Given the description of an element on the screen output the (x, y) to click on. 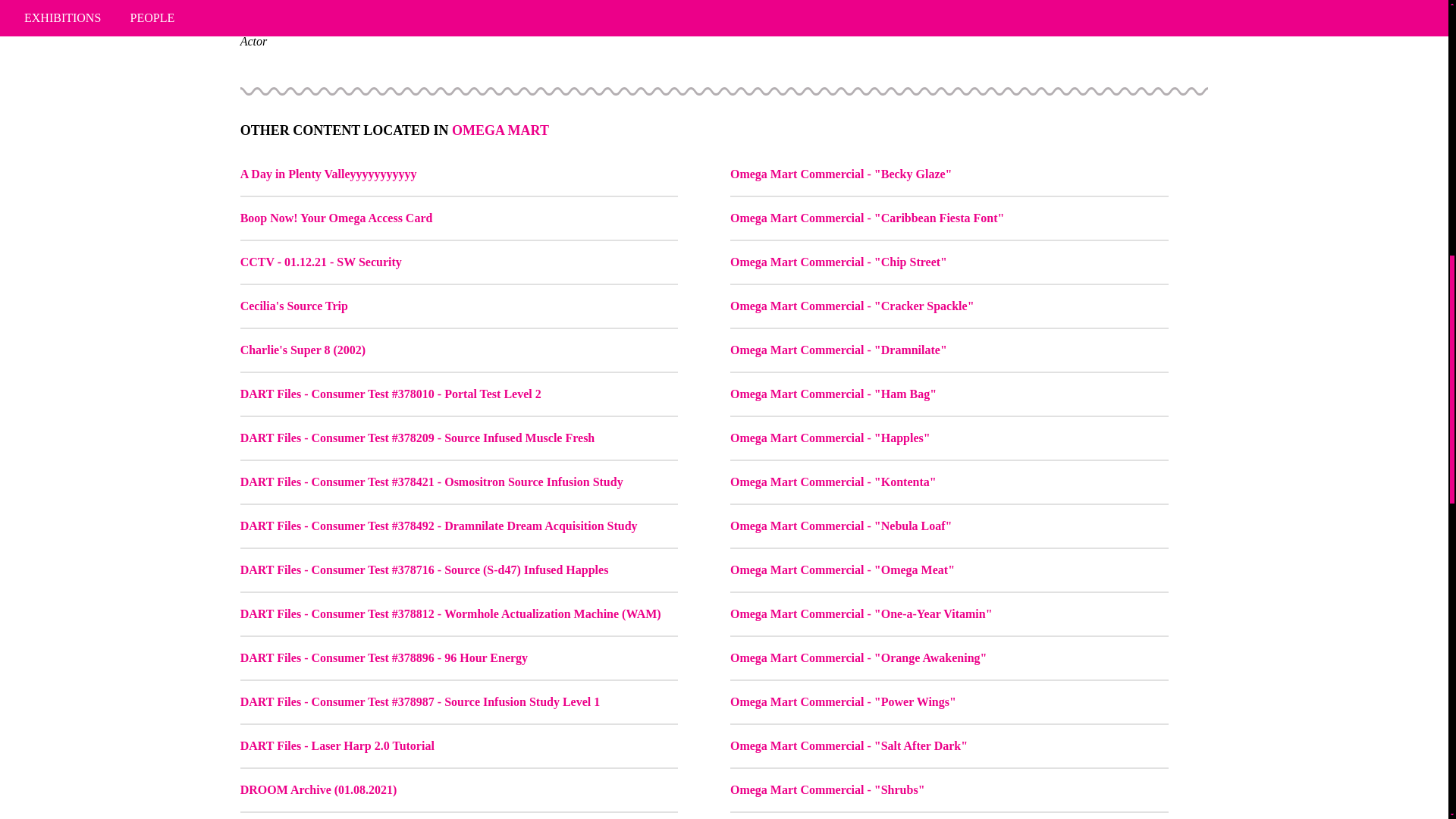
CCTV - 01.12.21 - SW Security (320, 261)
DART Files - Laser Harp 2.0 Tutorial (336, 745)
OMEGA MART (499, 130)
A Day in Plenty Valleyyyyyyyyyyy (459, 175)
CCTV - 01.12.21 - SW Security (459, 262)
Boop Now! Your Omega Access Card (459, 218)
A Day in Plenty Valleyyyyyyyyyyy (328, 173)
DART Files - Laser Harp 2.0 Tutorial (459, 746)
Sarah Bradley (724, 23)
Boop Now! Your Omega Access Card (336, 217)
